Given the description of an element on the screen output the (x, y) to click on. 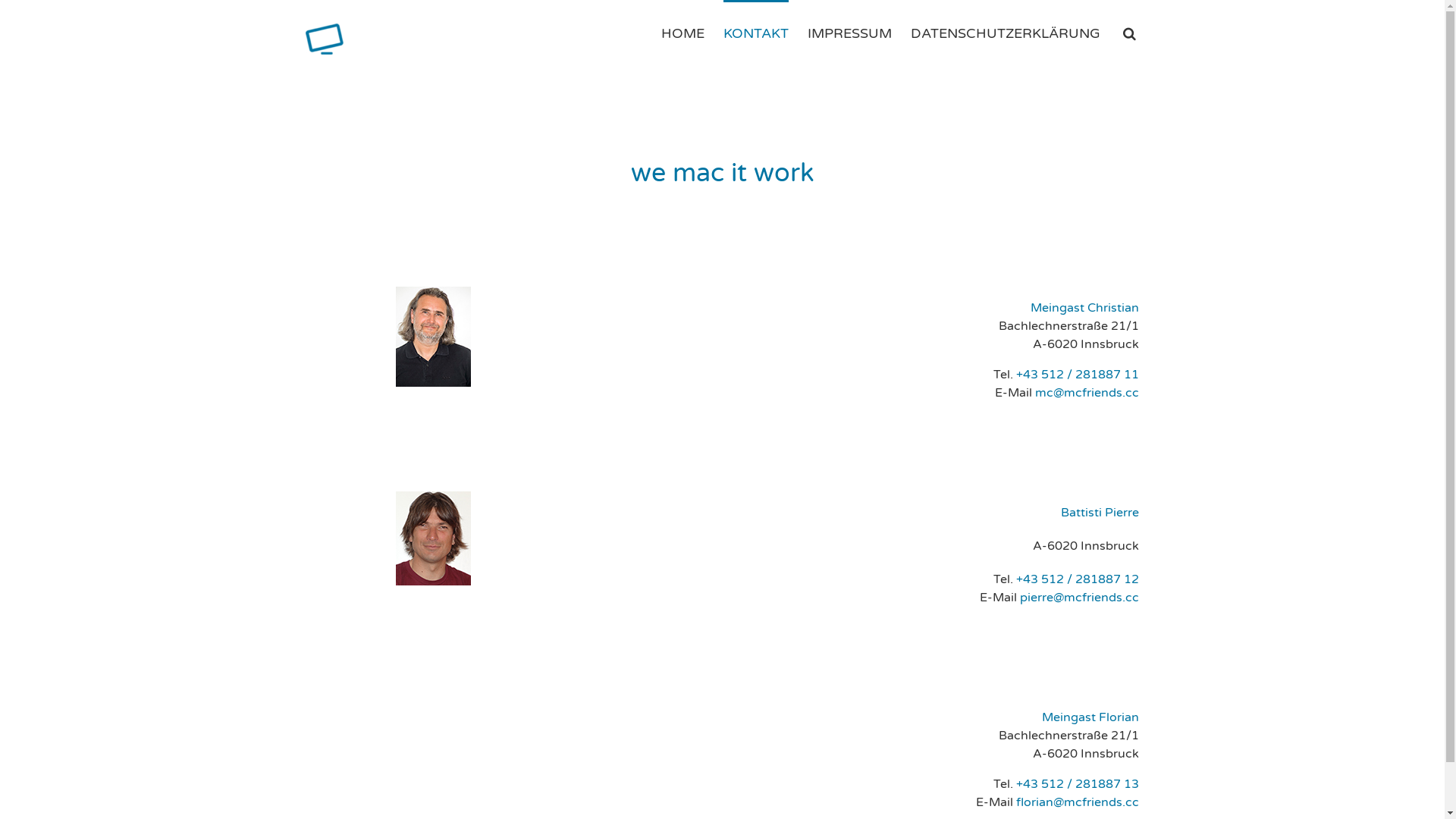
+43 512 / 281887 12 Element type: text (1077, 578)
KONTAKT Element type: text (755, 32)
pierre@mcfriends.cc Element type: text (1079, 597)
HOME Element type: text (682, 32)
+43 512 / 281887 11 Element type: text (1077, 374)
+43 512 / 281887 13 Element type: text (1077, 783)
florian@mcfriends.cc Element type: text (1077, 801)
mc@mcfriends.cc Element type: text (1087, 392)
IMPRESSUM Element type: text (848, 32)
